Given the description of an element on the screen output the (x, y) to click on. 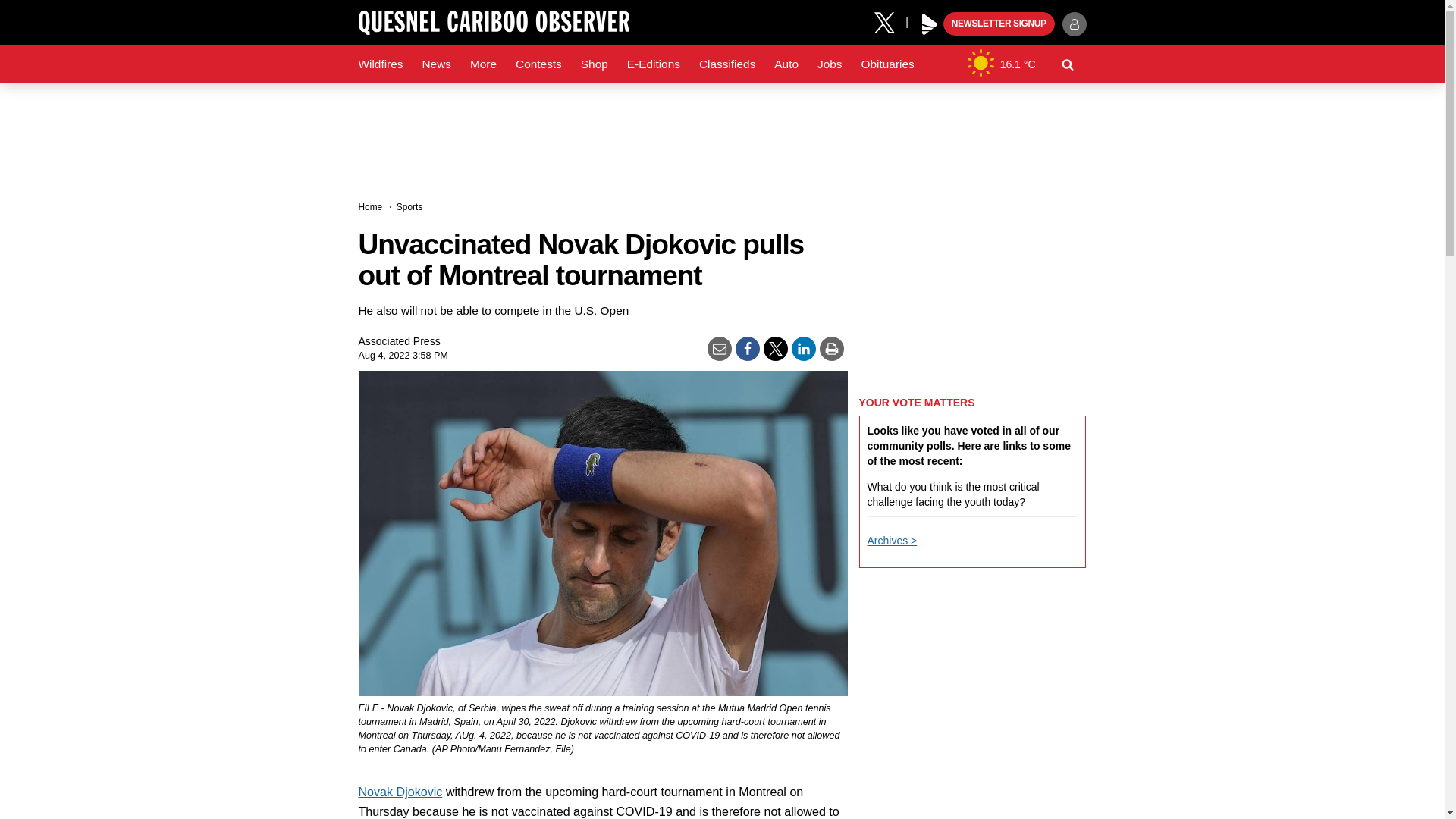
Wildfires (380, 64)
NEWSLETTER SIGNUP (998, 24)
Play (929, 24)
News (435, 64)
Black Press Media (929, 24)
X (889, 21)
